Given the description of an element on the screen output the (x, y) to click on. 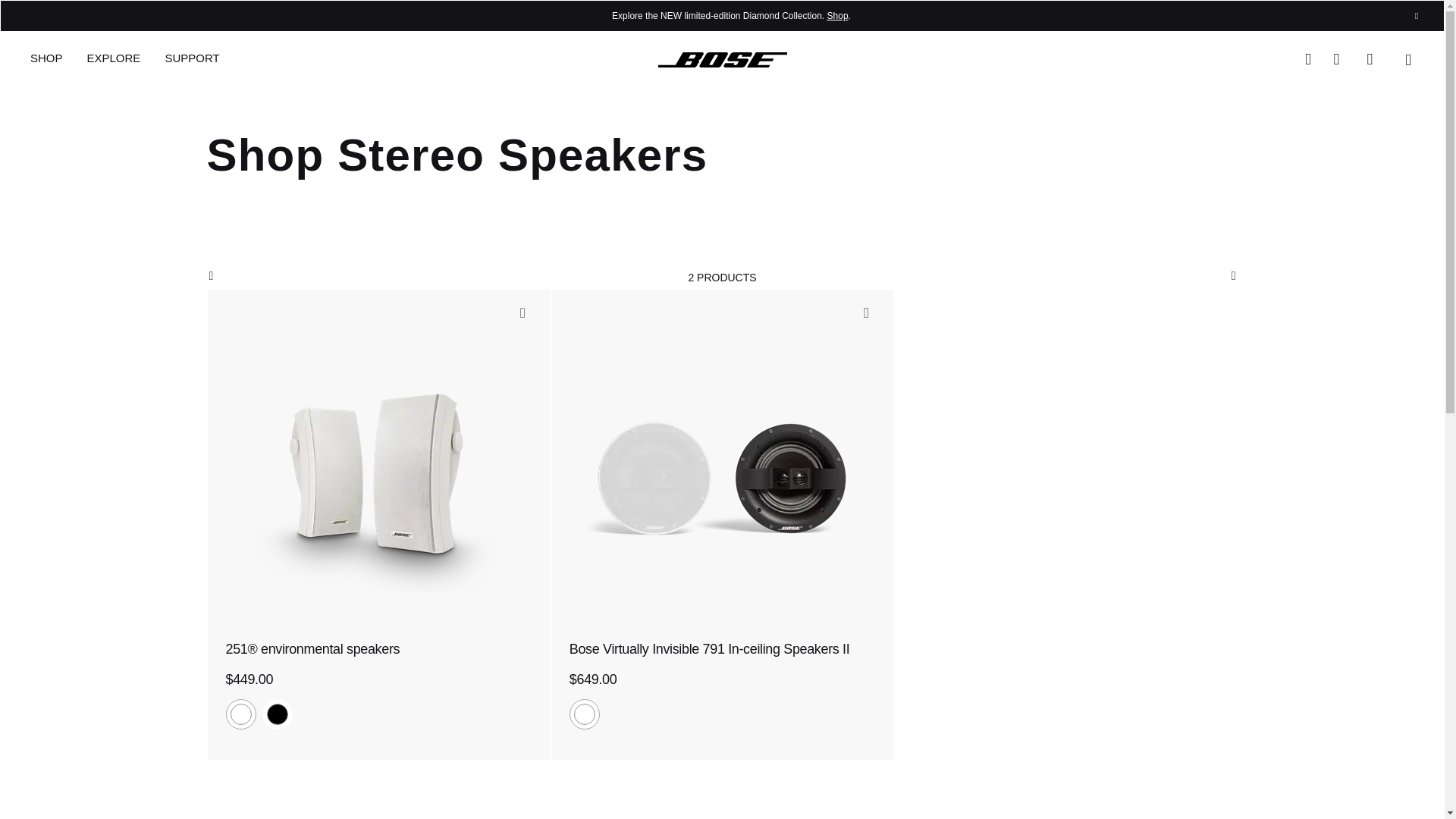
Wish list (1374, 58)
Bose Home (722, 58)
EXPLORE (113, 58)
Shop (837, 15)
